Given the description of an element on the screen output the (x, y) to click on. 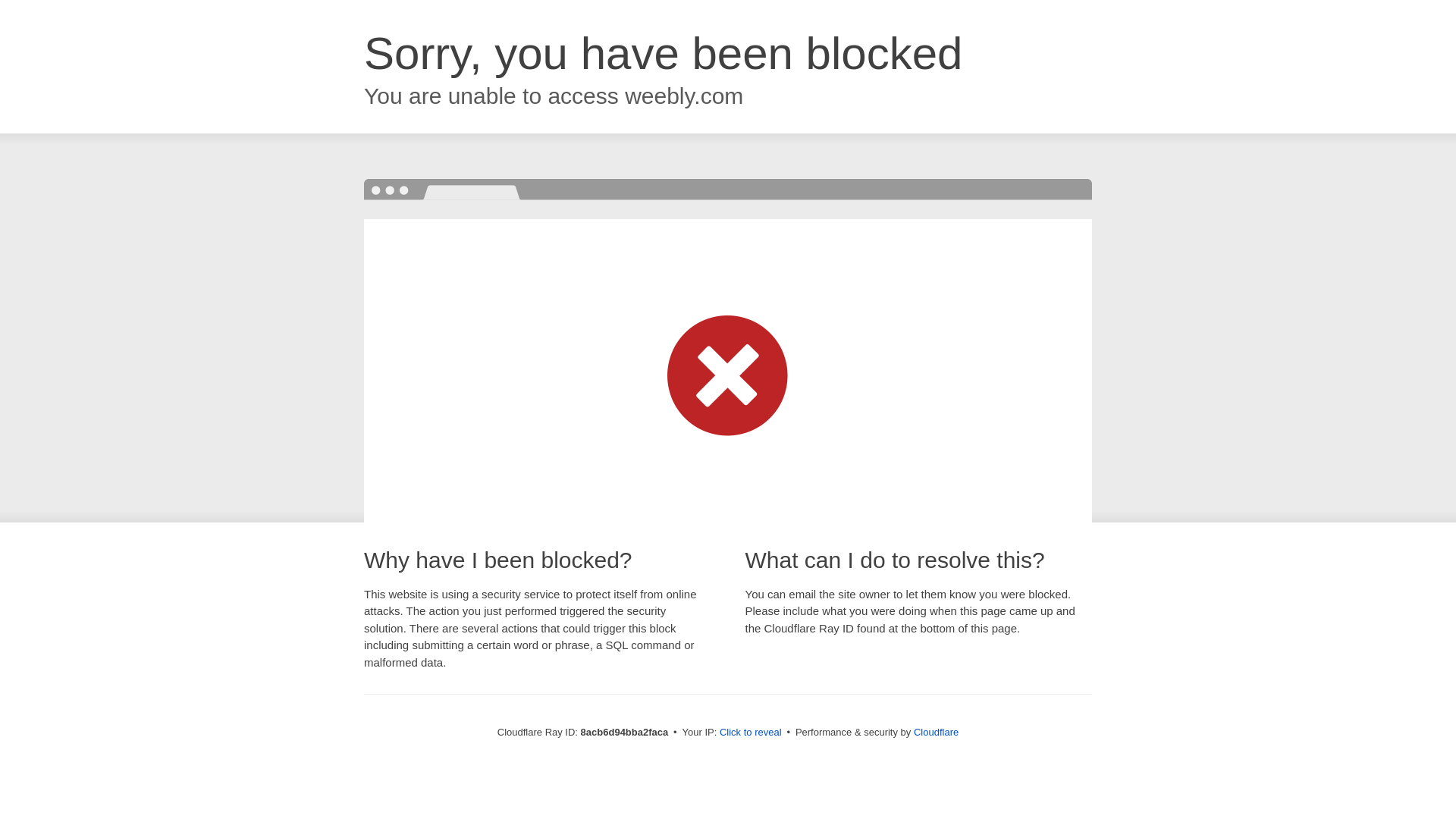
Cloudflare (936, 731)
Click to reveal (750, 732)
